Given the description of an element on the screen output the (x, y) to click on. 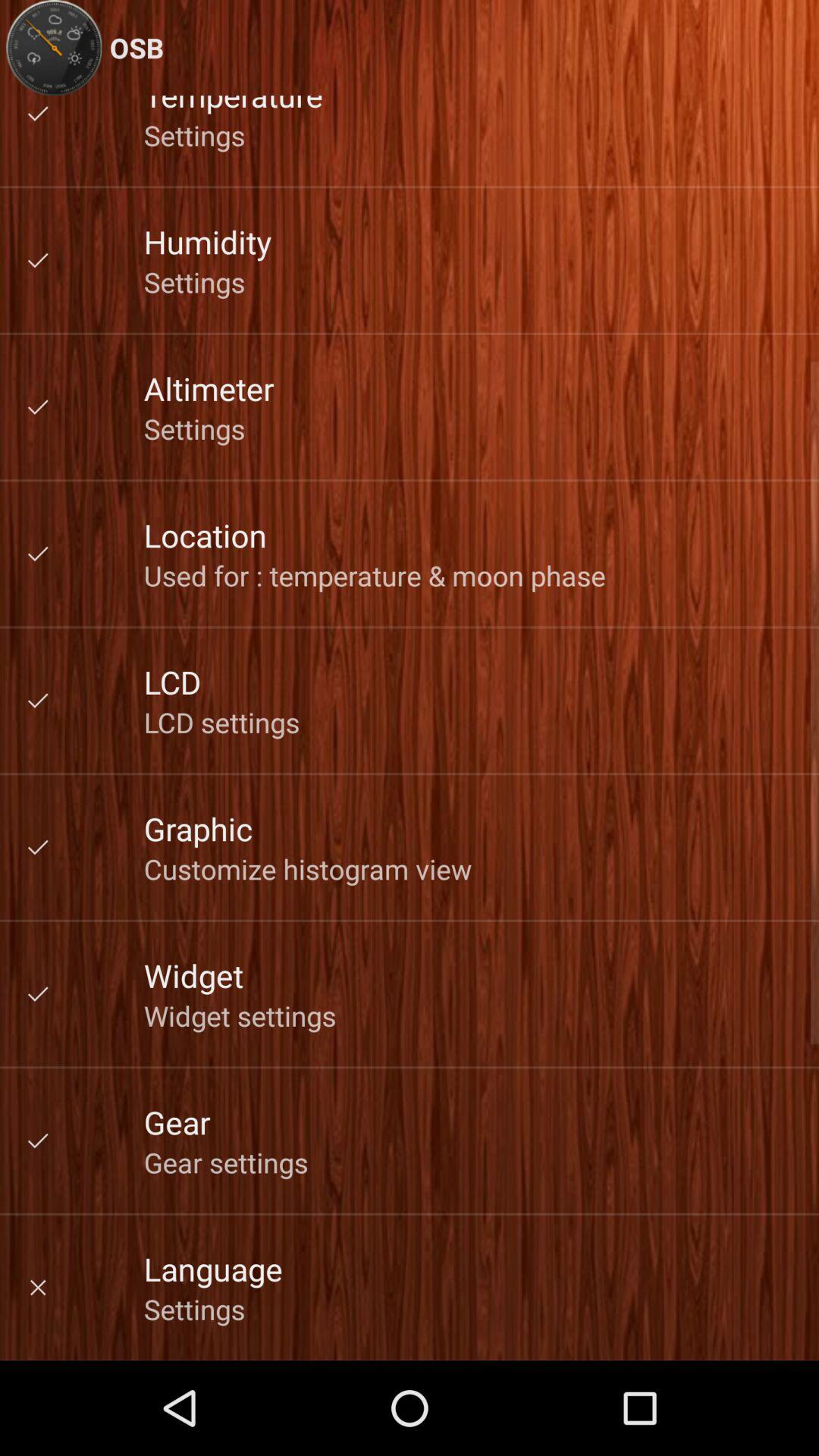
click app above settings (208, 388)
